Given the description of an element on the screen output the (x, y) to click on. 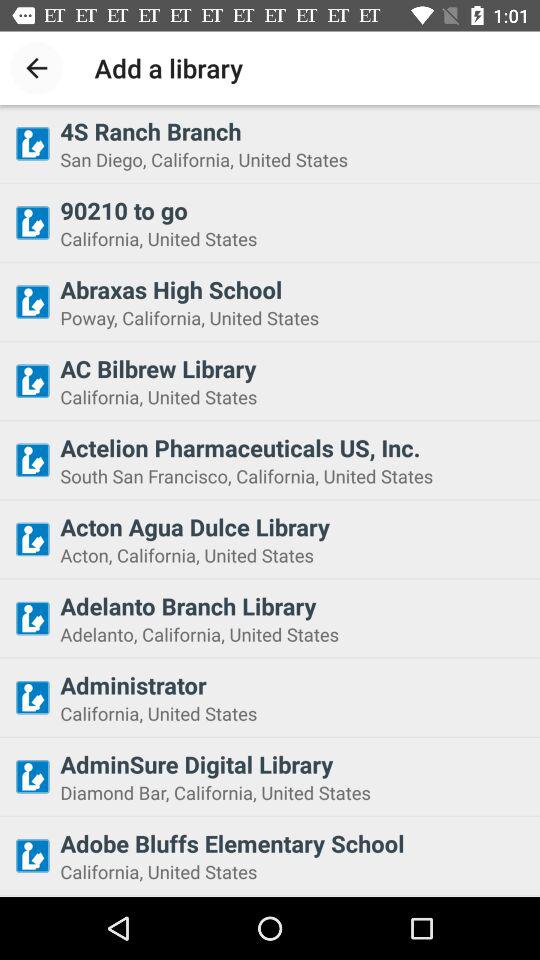
launch icon below california, united states (294, 764)
